Given the description of an element on the screen output the (x, y) to click on. 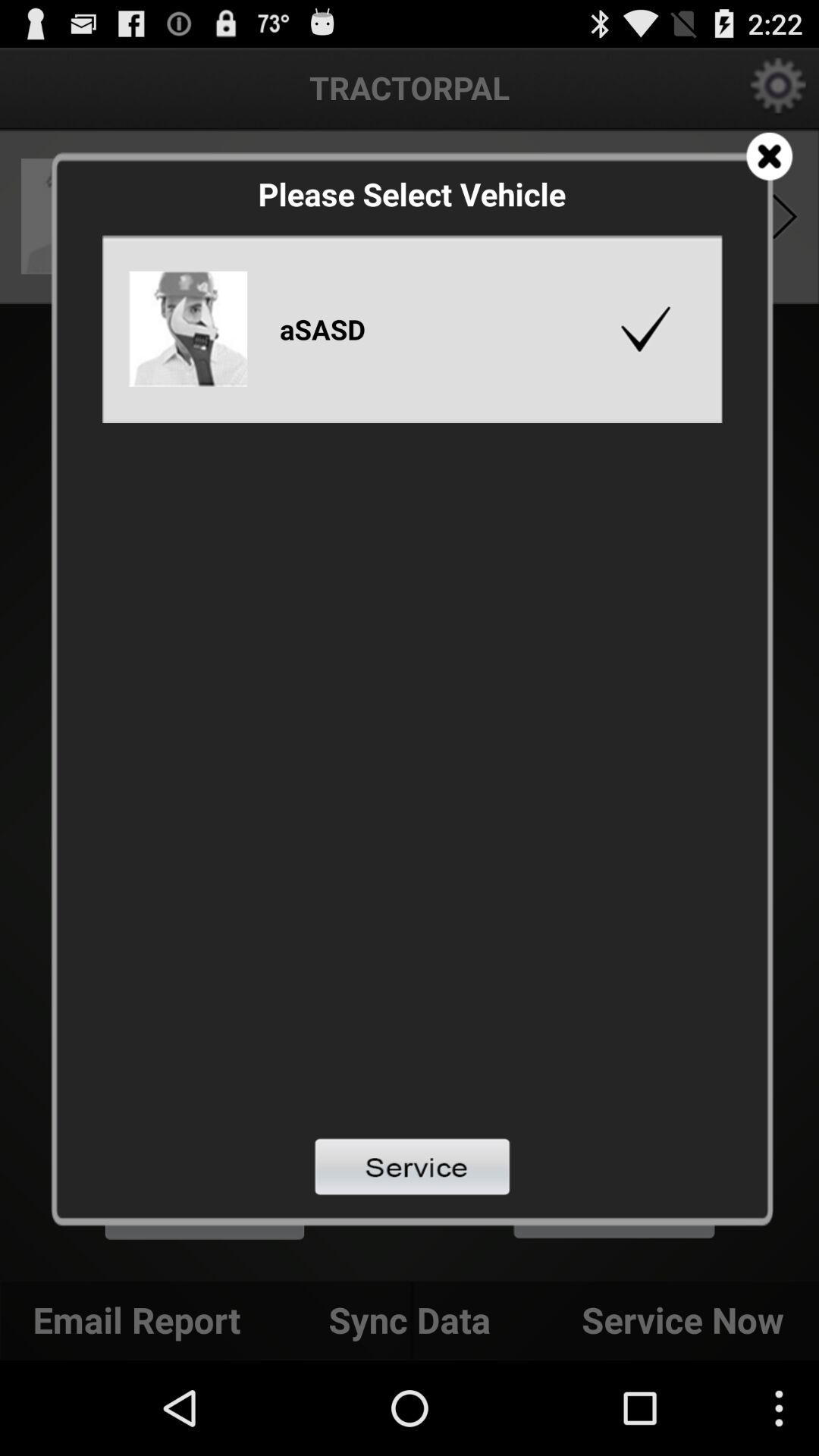
service (411, 1166)
